Given the description of an element on the screen output the (x, y) to click on. 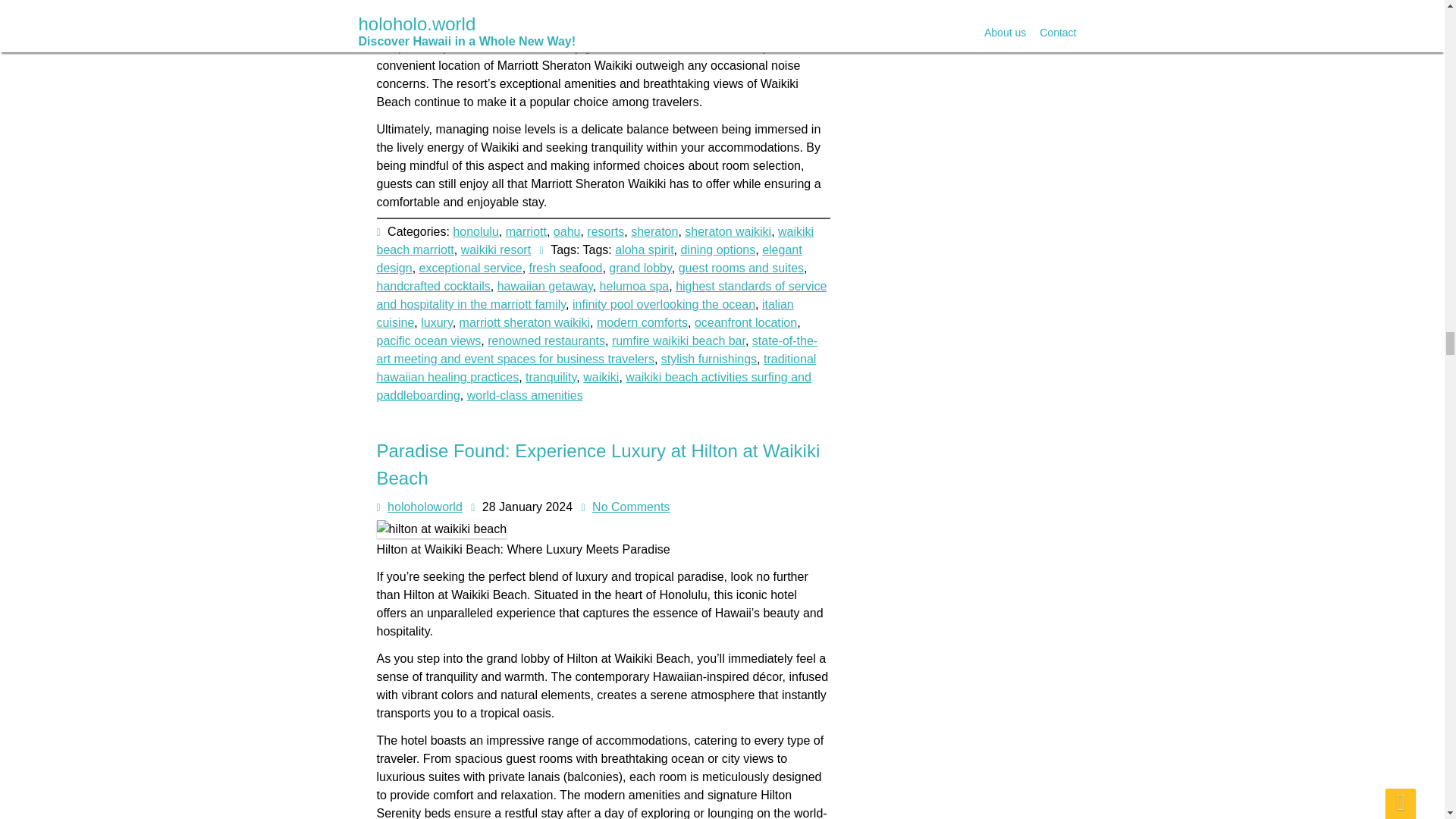
Paradise Found: Experience Luxury at Hilton at Waikiki Beach (597, 464)
Posts by holoholoworld (425, 506)
